Given the description of an element on the screen output the (x, y) to click on. 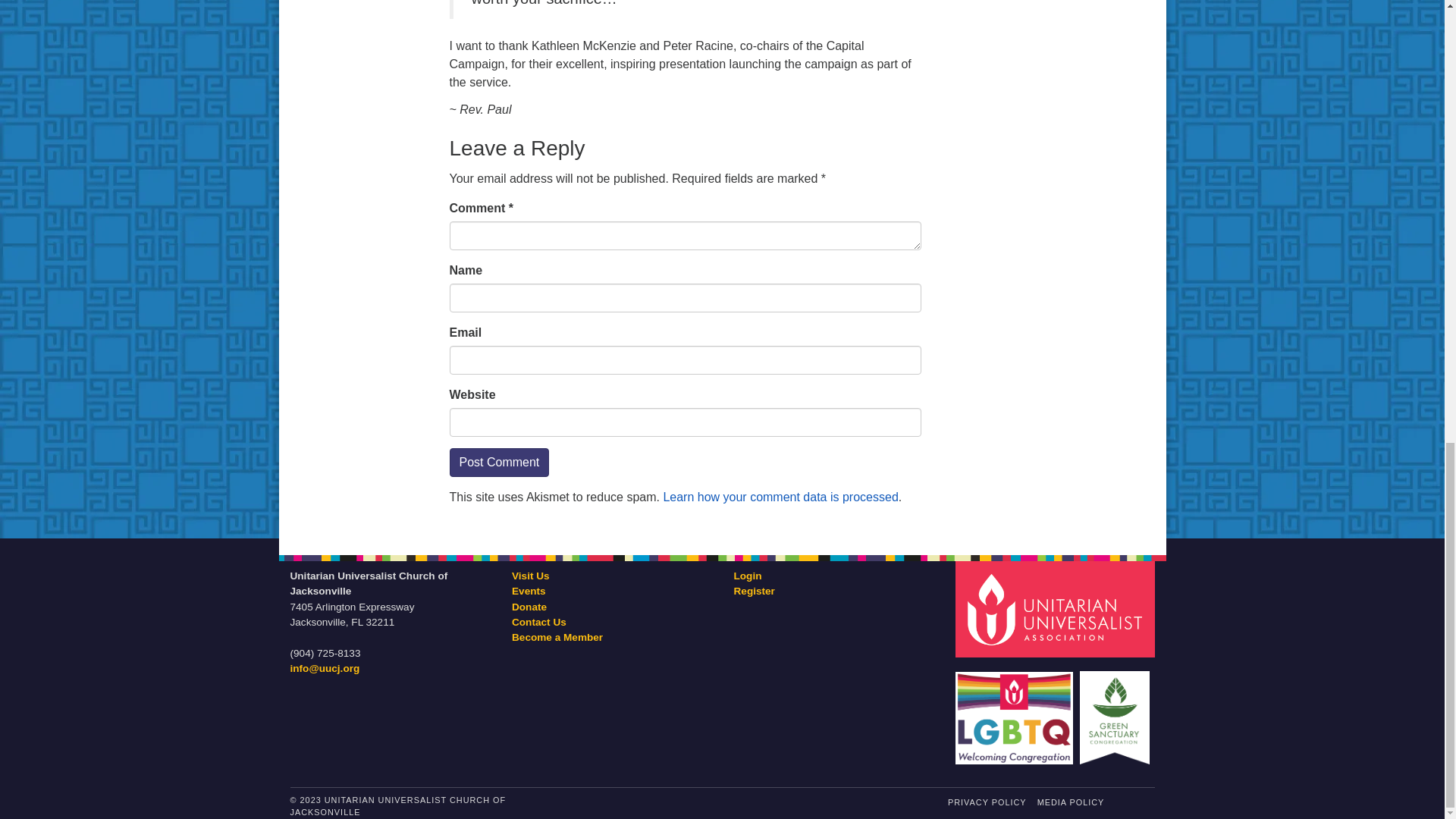
Post Comment (498, 461)
